Given the description of an element on the screen output the (x, y) to click on. 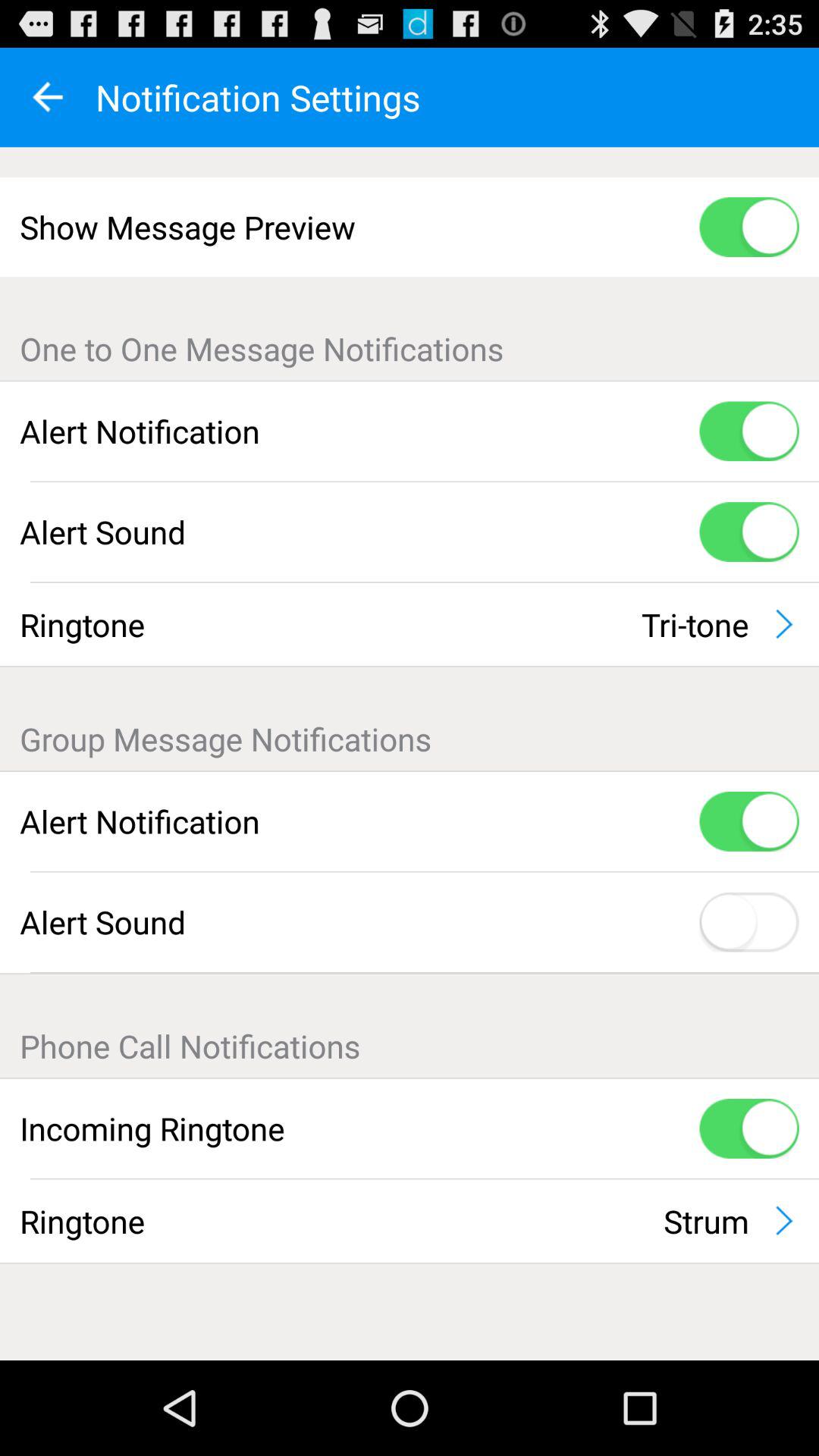
open app to the right of incoming ringtone icon (749, 1128)
